Given the description of an element on the screen output the (x, y) to click on. 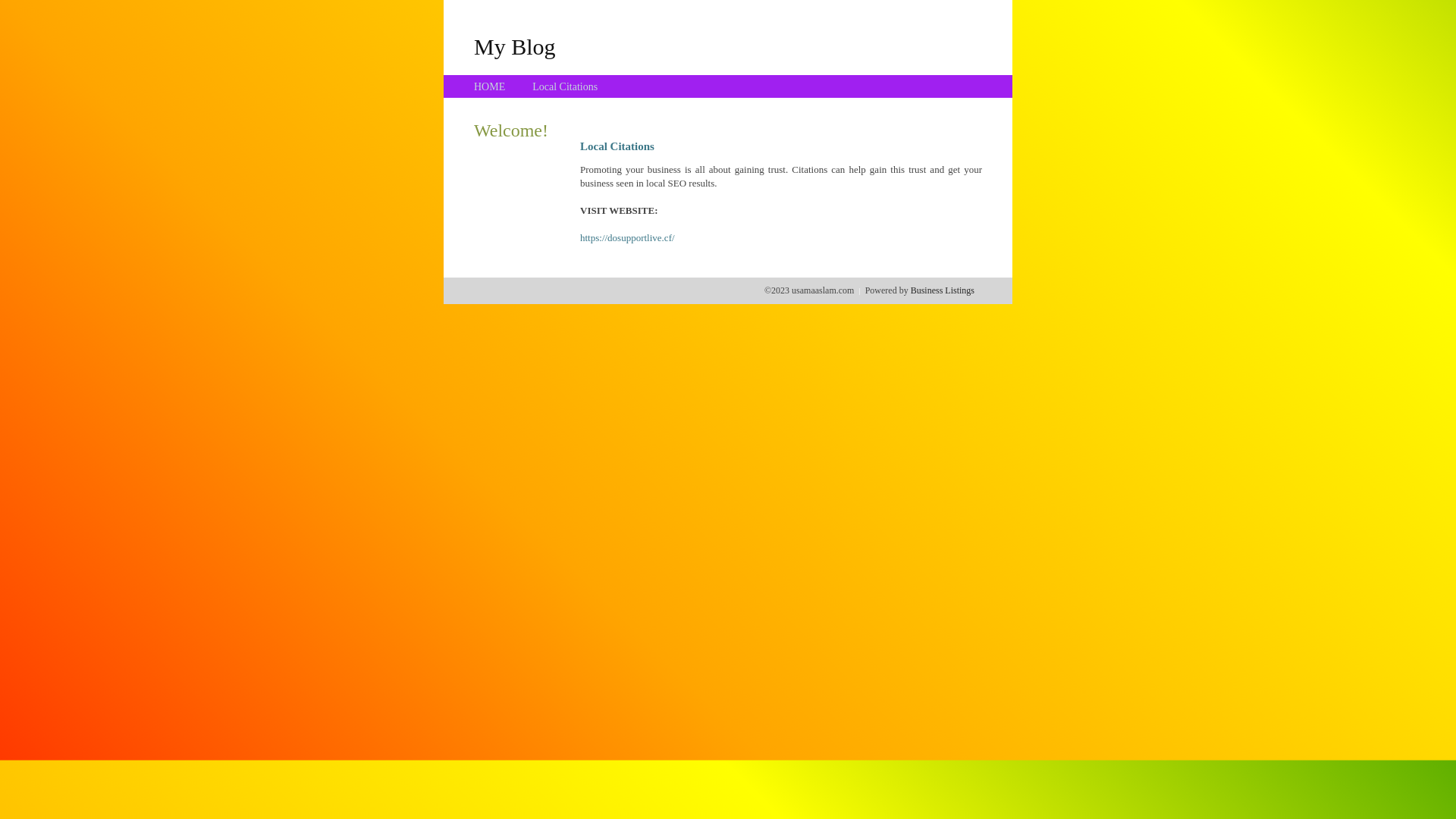
https://dosupportlive.cf/ Element type: text (627, 237)
HOME Element type: text (489, 86)
My Blog Element type: text (514, 46)
Business Listings Element type: text (942, 290)
Local Citations Element type: text (564, 86)
